Given the description of an element on the screen output the (x, y) to click on. 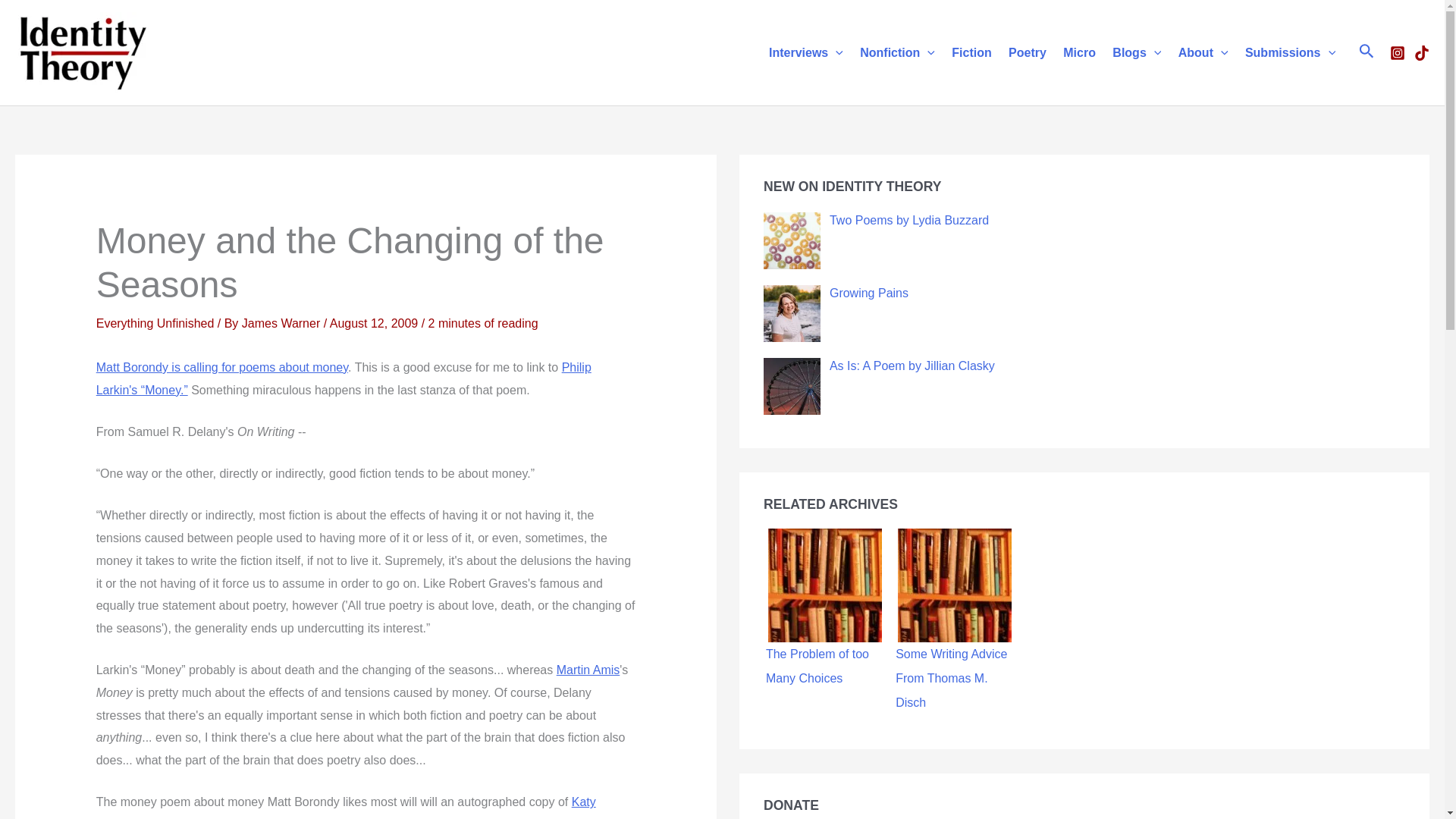
The Problem of too Many Choices (825, 585)
Nonfiction (897, 51)
Some Writing Advice From Thomas M. Disch (954, 585)
View all posts by James Warner (282, 323)
Submissions (1289, 51)
About (1203, 51)
Interviews (805, 51)
Blogs (1136, 51)
